Given the description of an element on the screen output the (x, y) to click on. 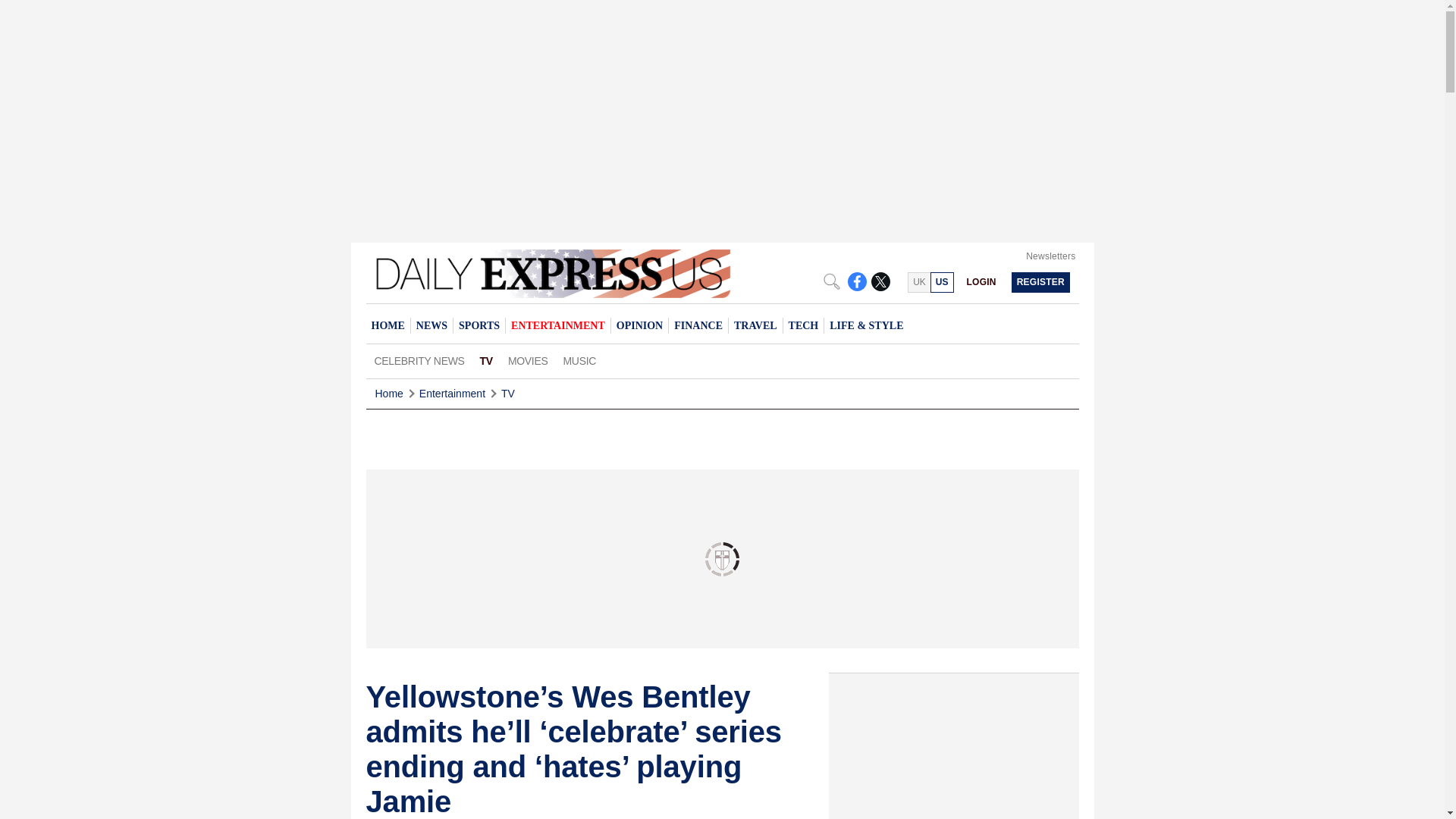
Entertainment (451, 393)
SPORTS (478, 325)
Newsletters (1050, 256)
US (941, 281)
Find us on Facebook (856, 281)
TV (485, 361)
TECH (803, 325)
HOME (387, 325)
FINANCE (698, 325)
Home (388, 393)
